Given the description of an element on the screen output the (x, y) to click on. 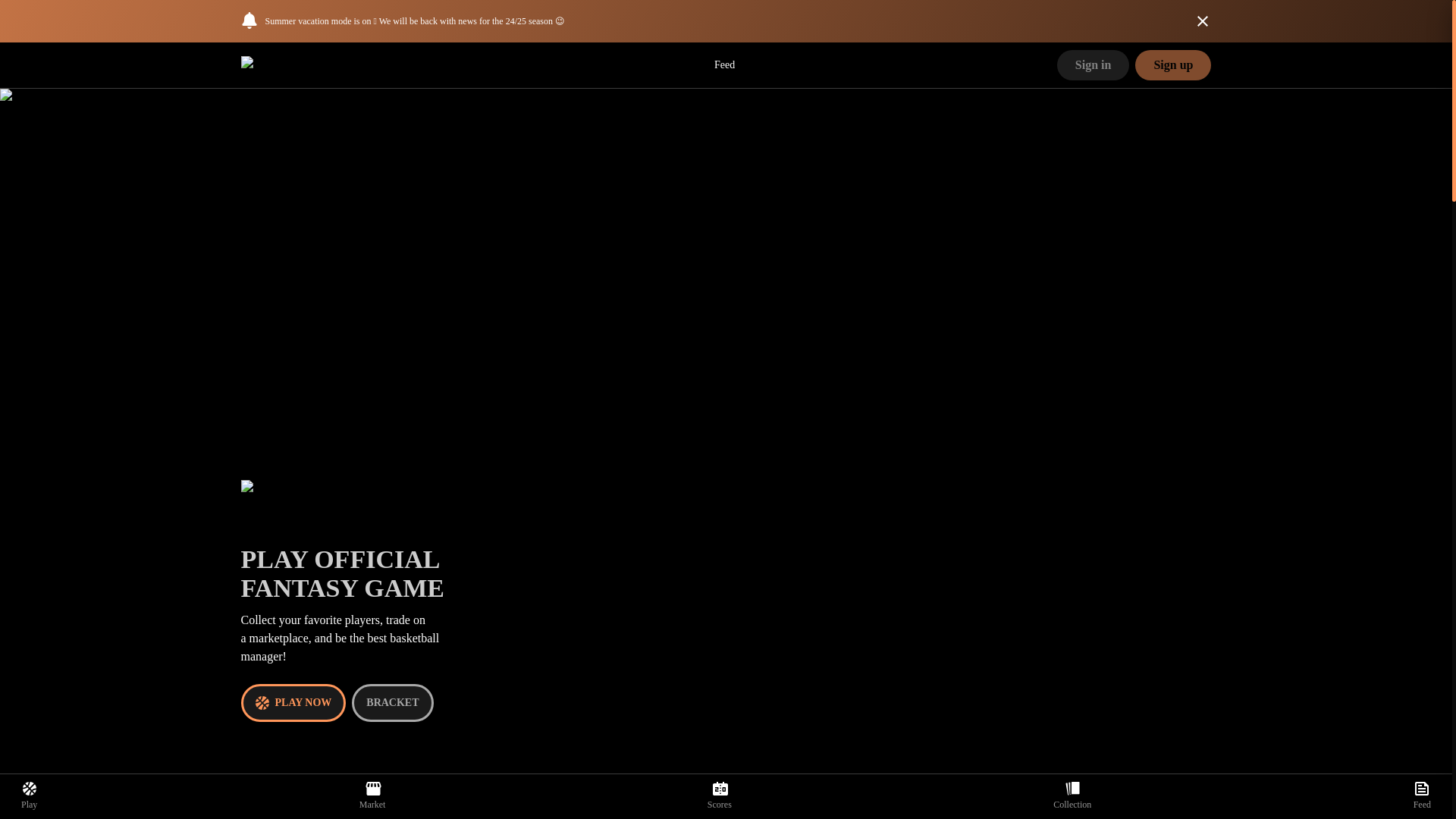
Play (28, 796)
BRACKET (392, 702)
Feed (1422, 796)
Market (372, 796)
PLAY NOW (293, 702)
Scores (719, 796)
Sign in (1093, 64)
Sign up (1173, 64)
Feed (724, 64)
Collection (1071, 796)
